Given the description of an element on the screen output the (x, y) to click on. 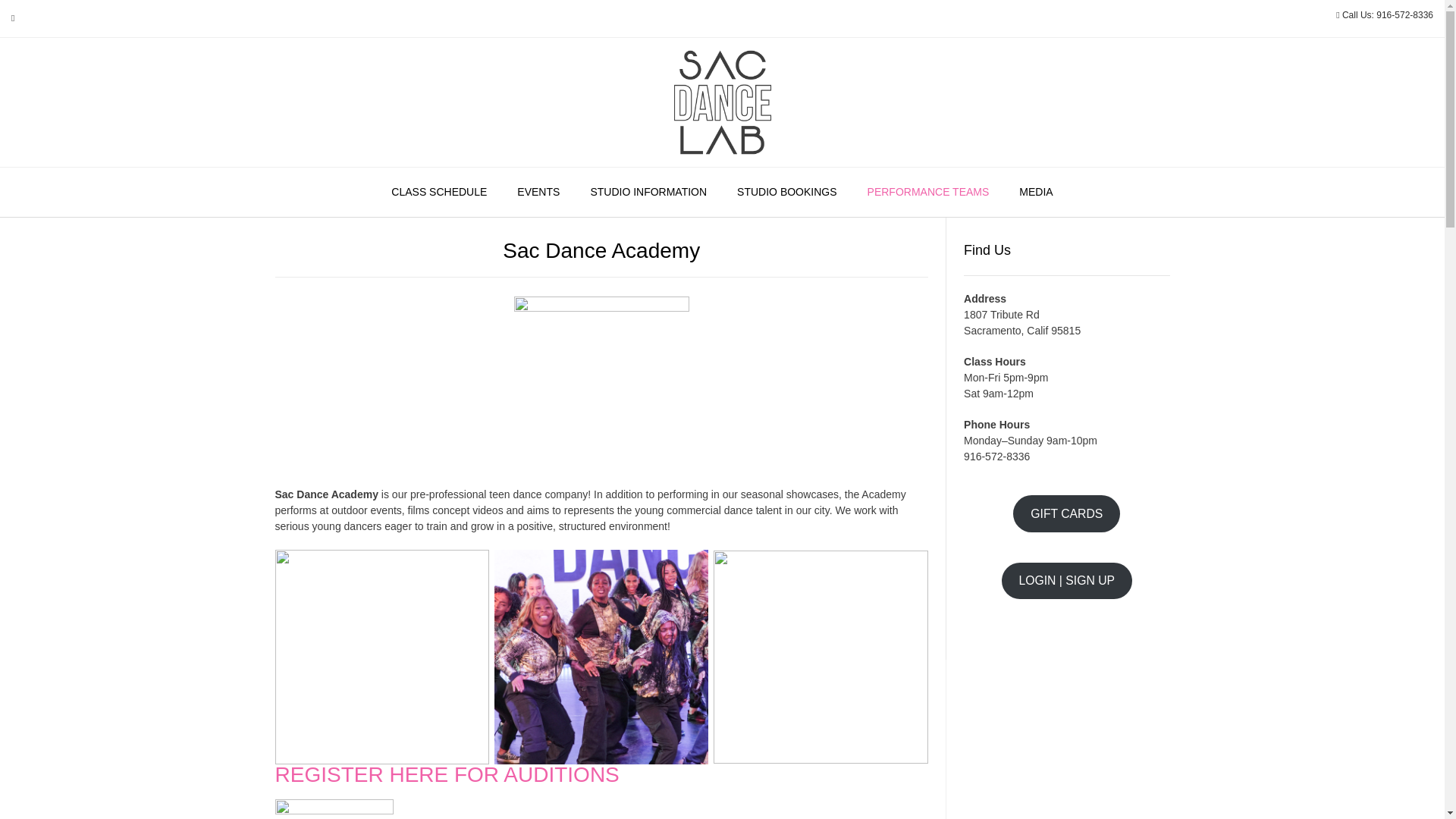
MEDIA (1035, 192)
REGISTER HERE FOR AUDITIONS (446, 774)
STUDIO BOOKINGS (786, 192)
EVENTS (538, 192)
GIFT CARDS (1066, 513)
PERFORMANCE TEAMS (927, 192)
CLASS SCHEDULE (438, 192)
STUDIO INFORMATION (648, 192)
